Given the description of an element on the screen output the (x, y) to click on. 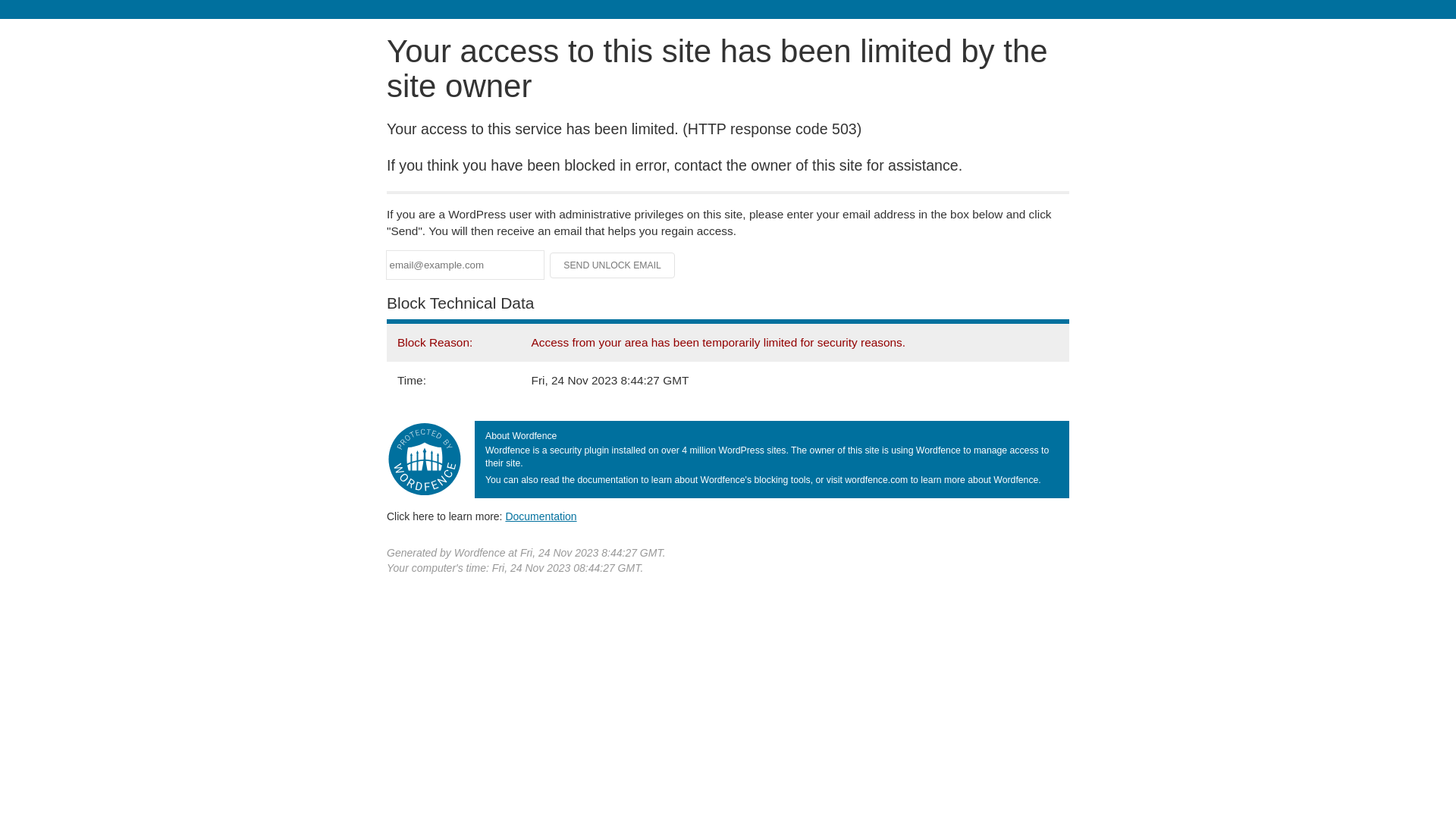
Send Unlock Email Element type: text (612, 265)
Documentation Element type: text (540, 516)
